Given the description of an element on the screen output the (x, y) to click on. 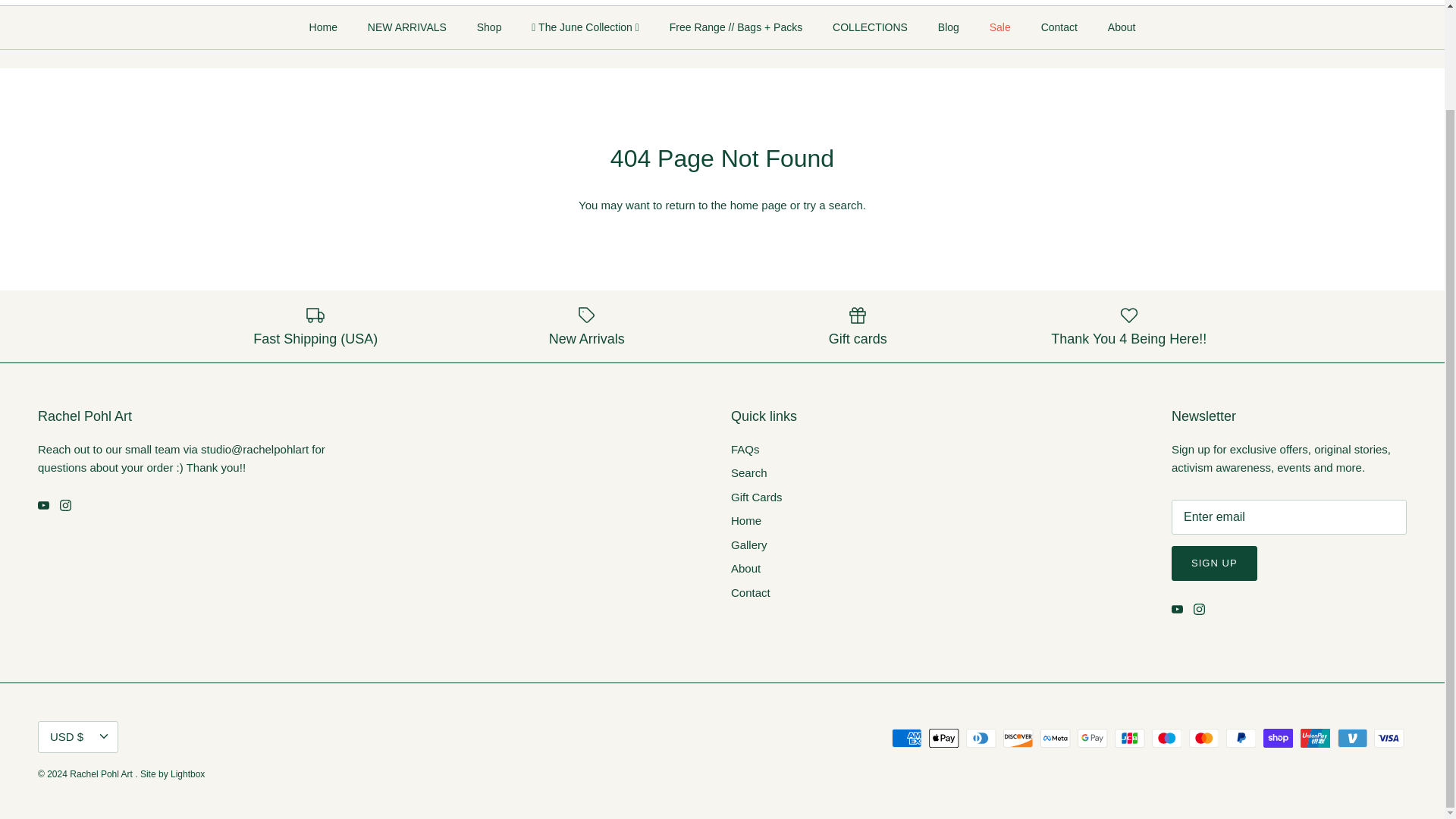
Google Pay (1092, 737)
Discover (1018, 737)
Youtube (1177, 609)
American Express (906, 737)
Diners Club (980, 737)
Meta Pay (1055, 737)
Label (586, 315)
Instagram (1199, 609)
JCB (1129, 737)
Instagram (65, 505)
Youtube (43, 505)
Apple Pay (943, 737)
